Given the description of an element on the screen output the (x, y) to click on. 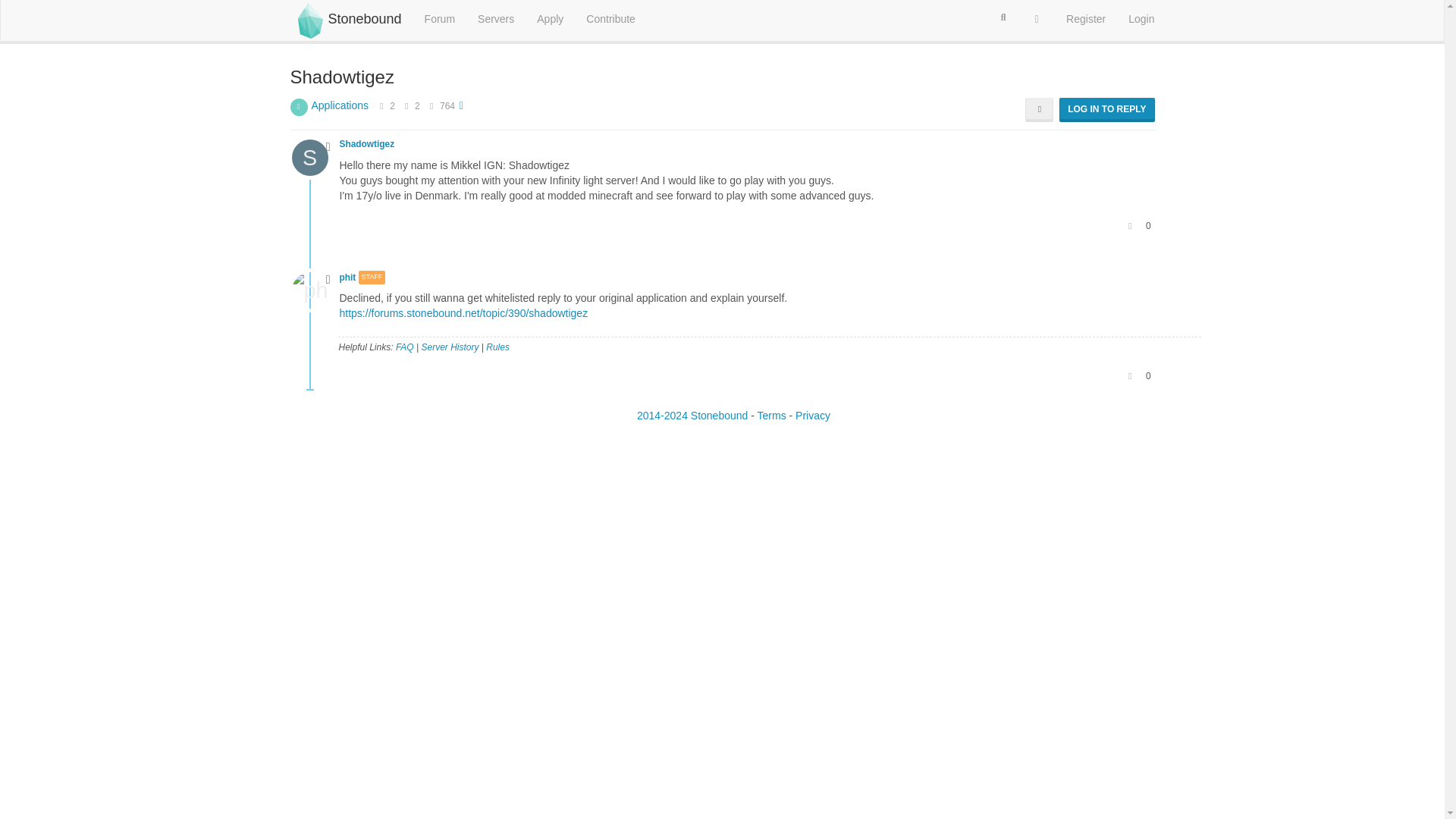
Register (1085, 18)
Forum (439, 18)
Shadowtigez (368, 143)
Menu (1037, 18)
Login (1141, 18)
Categories (439, 18)
Posters (381, 105)
Contribute (610, 18)
Contribute (610, 18)
Views (432, 105)
Search (1003, 17)
S (315, 156)
Apply (550, 18)
Posts (406, 105)
Servers (495, 18)
